Given the description of an element on the screen output the (x, y) to click on. 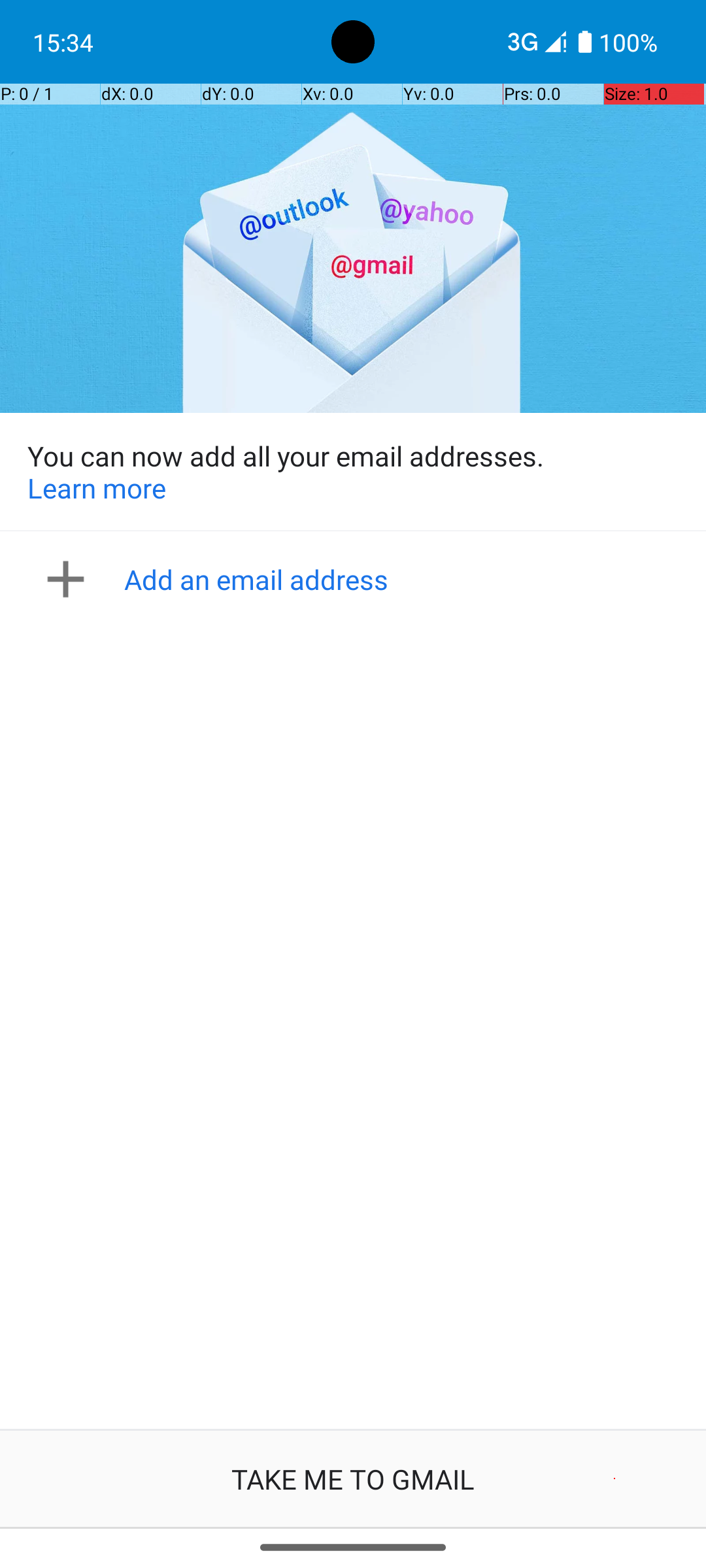
You can now add all your email addresses. Learn more Element type: android.widget.TextView (352, 471)
TAKE ME TO GMAIL Element type: android.widget.TextView (353, 1478)
Add an email address Element type: android.widget.TextView (356, 579)
